Given the description of an element on the screen output the (x, y) to click on. 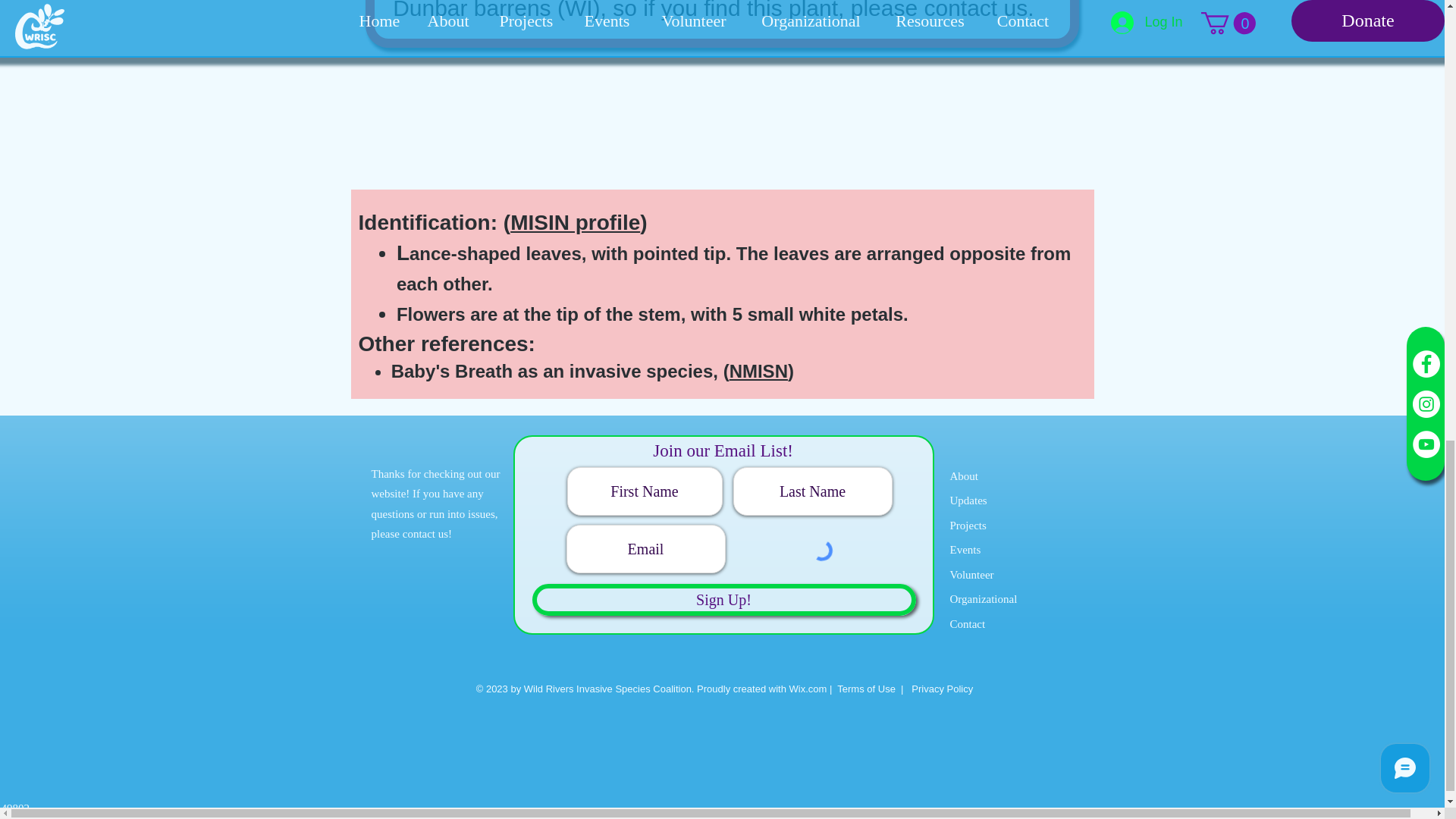
MISIN profile (575, 222)
Updates (968, 512)
Contact (967, 623)
Events (964, 549)
Volunteer (970, 574)
Projects (967, 525)
About (963, 476)
Organizational (982, 598)
Sign Up! (723, 599)
